Given the description of an element on the screen output the (x, y) to click on. 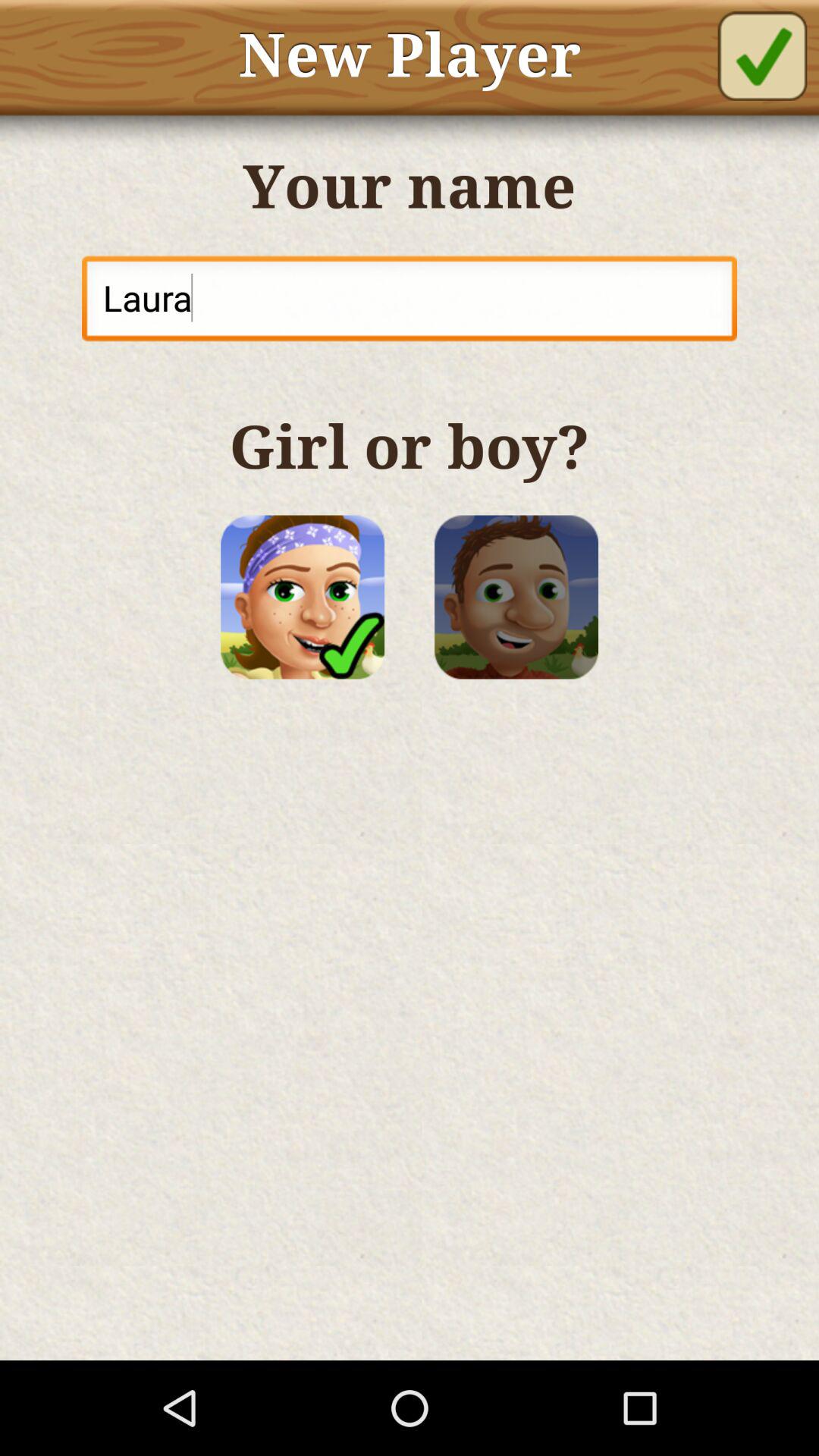
confirms gender selection and continues to next screen (762, 55)
